Given the description of an element on the screen output the (x, y) to click on. 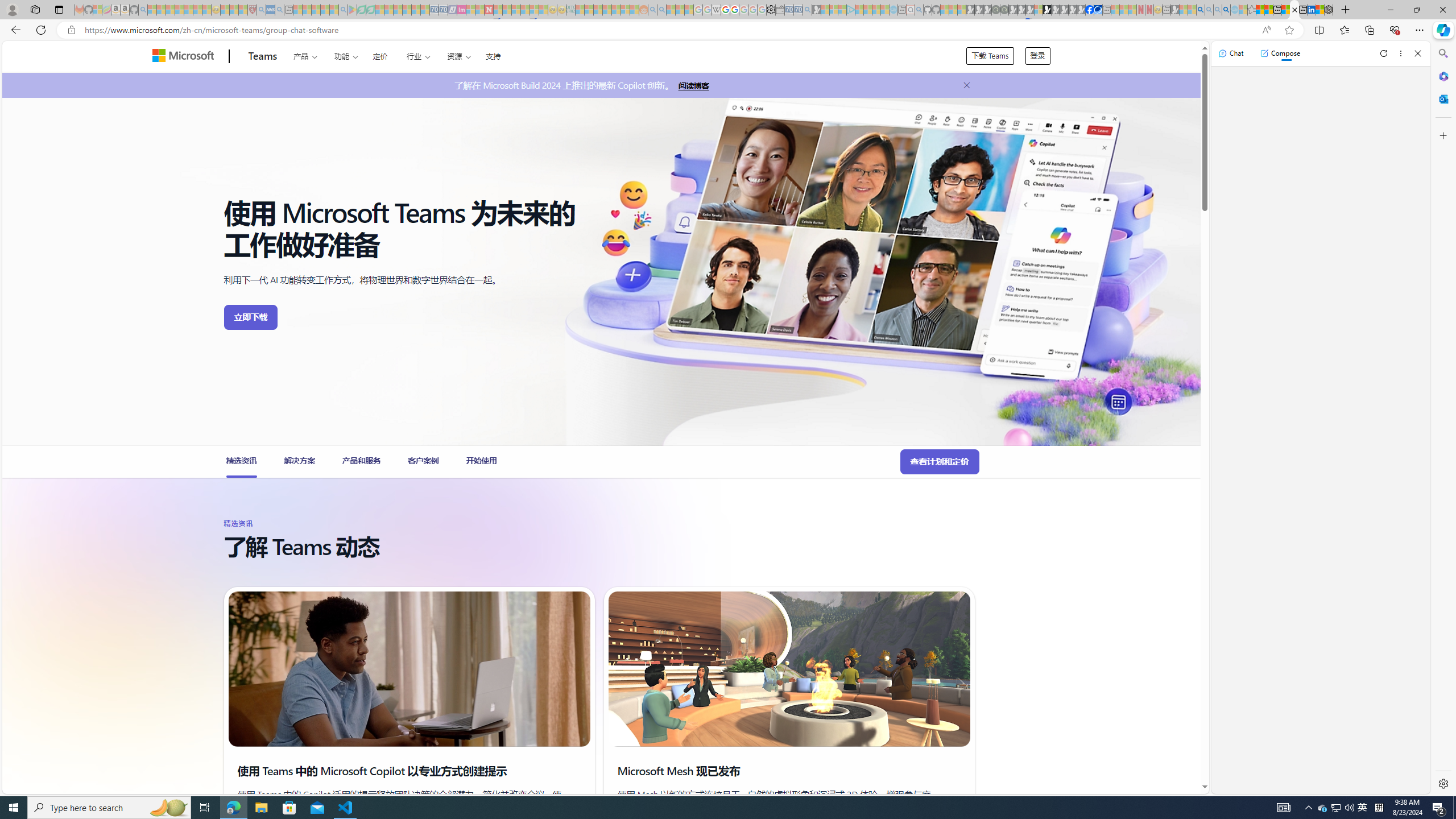
Bing AI - Search (1200, 9)
LinkedIn (1311, 9)
MSNBC - MSN - Sleeping (579, 9)
